Given the description of an element on the screen output the (x, y) to click on. 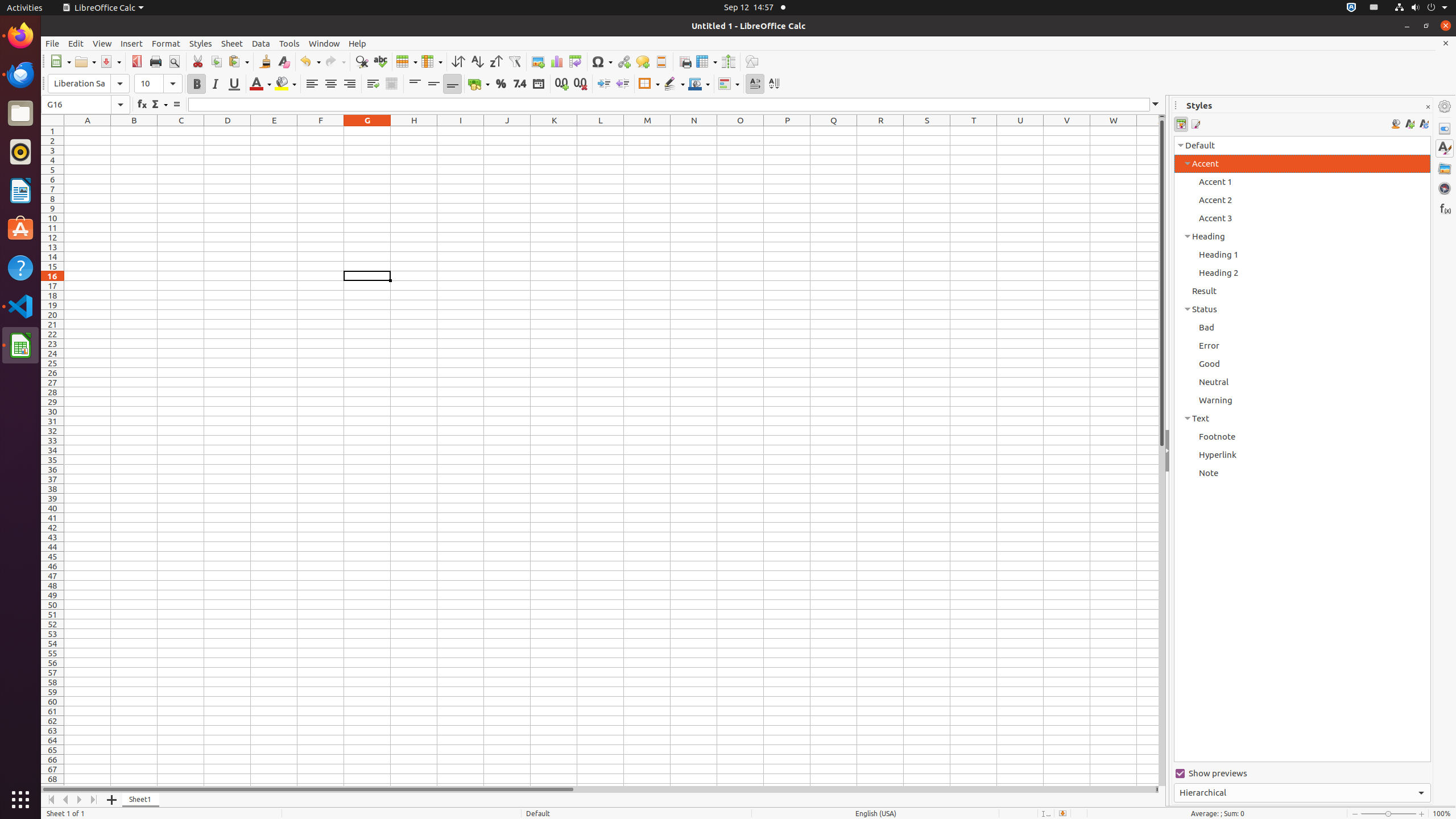
Sort Element type: push-button (457, 61)
New Style from Selection Element type: push-button (1409, 123)
Clear Element type: push-button (283, 61)
S1 Element type: table-cell (926, 130)
Sort Descending Element type: push-button (495, 61)
